Given the description of an element on the screen output the (x, y) to click on. 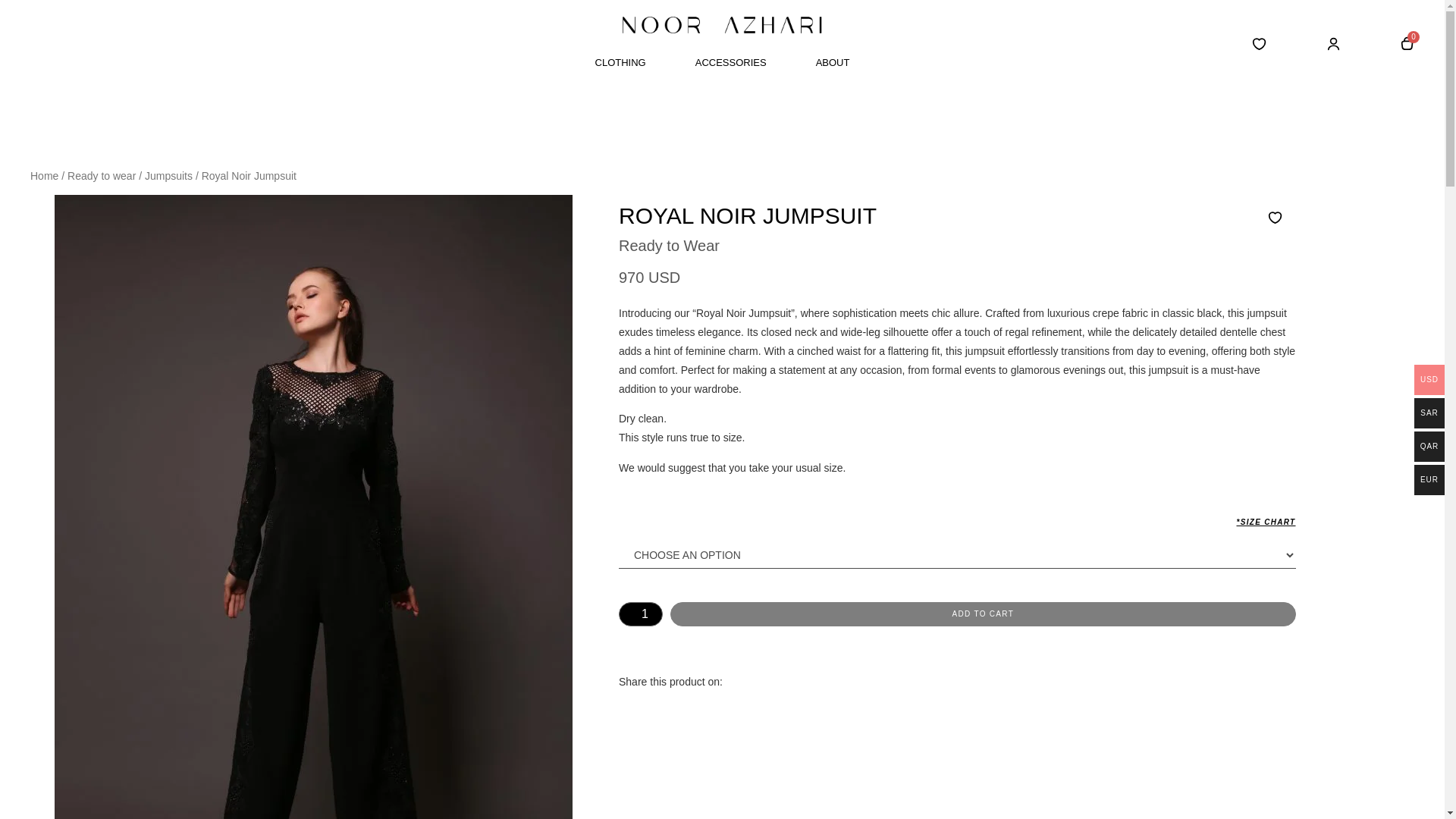
ACCESSORIES (731, 62)
1 (640, 613)
0 (1406, 44)
CLOTHING (620, 62)
ABOUT (832, 62)
